Given the description of an element on the screen output the (x, y) to click on. 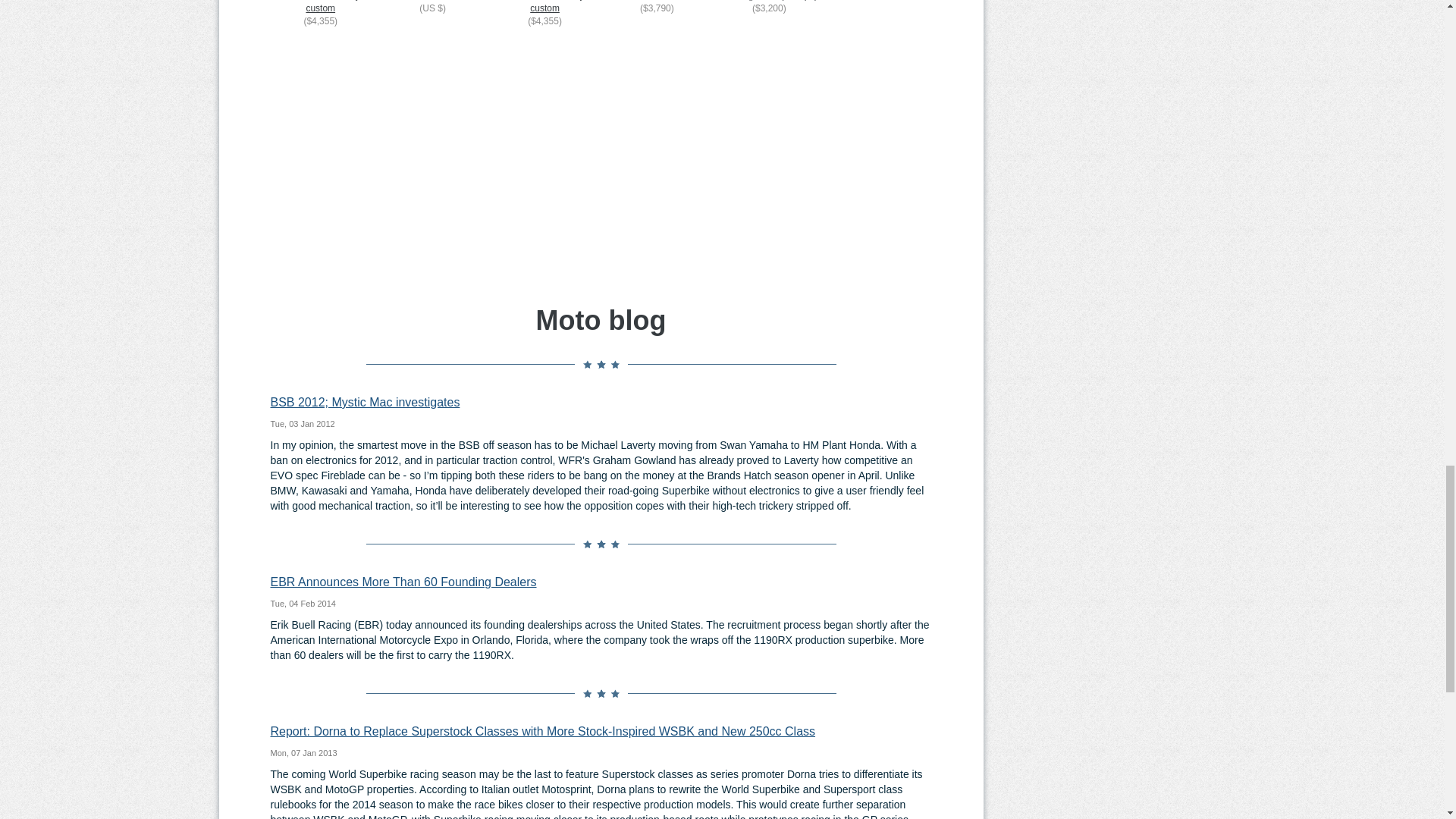
27566 used 1975 kawasaki z1 (656, 1)
BSB 2012; Mystic Mac investigates (364, 401)
27535 used 2000 kawasaki 1500 fully custom (319, 7)
Used 2003 kawasaki kdx50a for sale (432, 1)
EBR Announces More Than 60 Founding Dealers (402, 581)
27516 used 2000 kawasaki 1500 fully custom (545, 7)
